Given the description of an element on the screen output the (x, y) to click on. 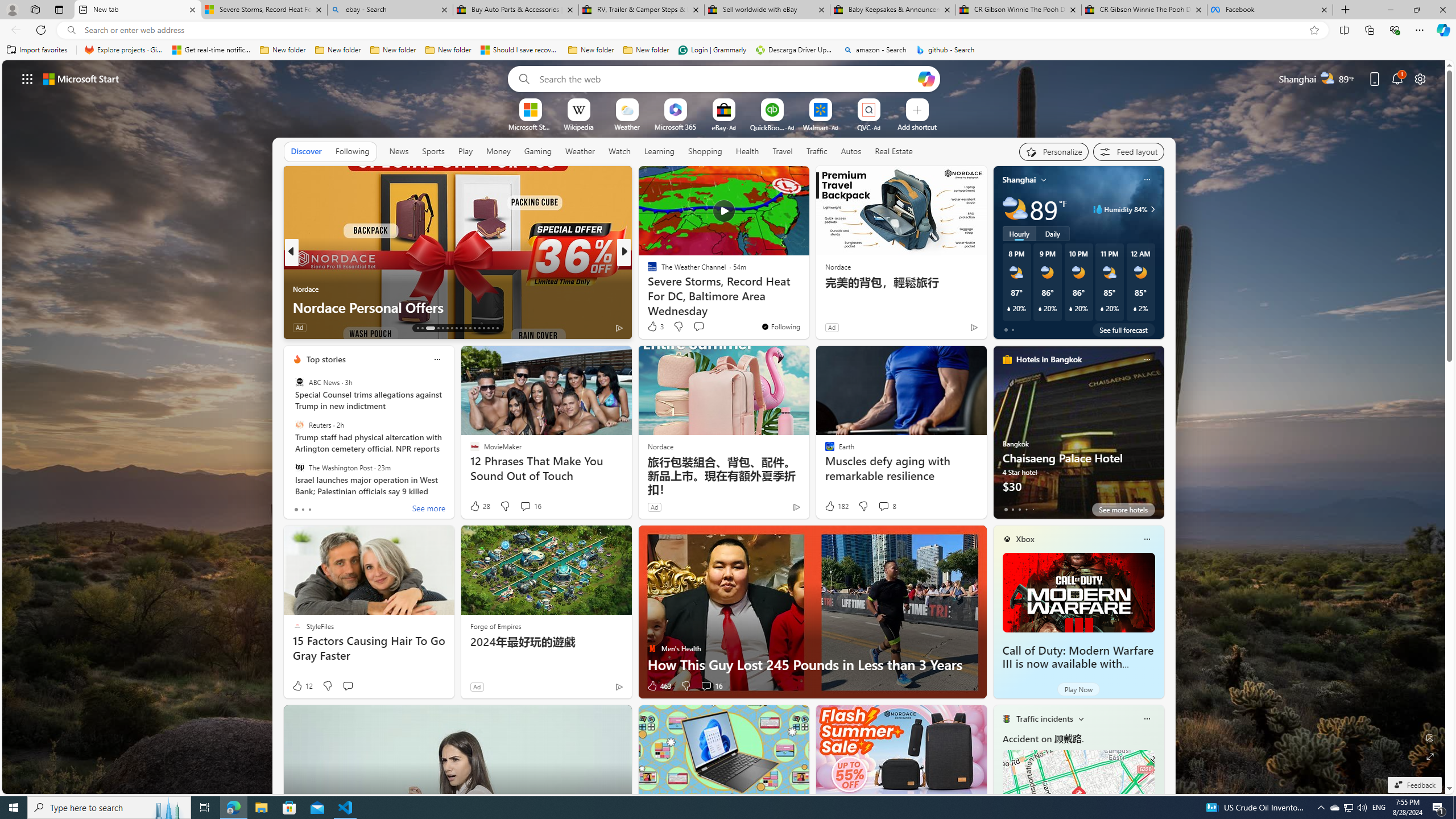
Microsoft start (81, 78)
AutomationID: tab-26 (483, 328)
Humidity 84% (1150, 208)
138 Like (654, 327)
AutomationID: tab-24 (474, 328)
tab-3 (1025, 509)
